Given the description of an element on the screen output the (x, y) to click on. 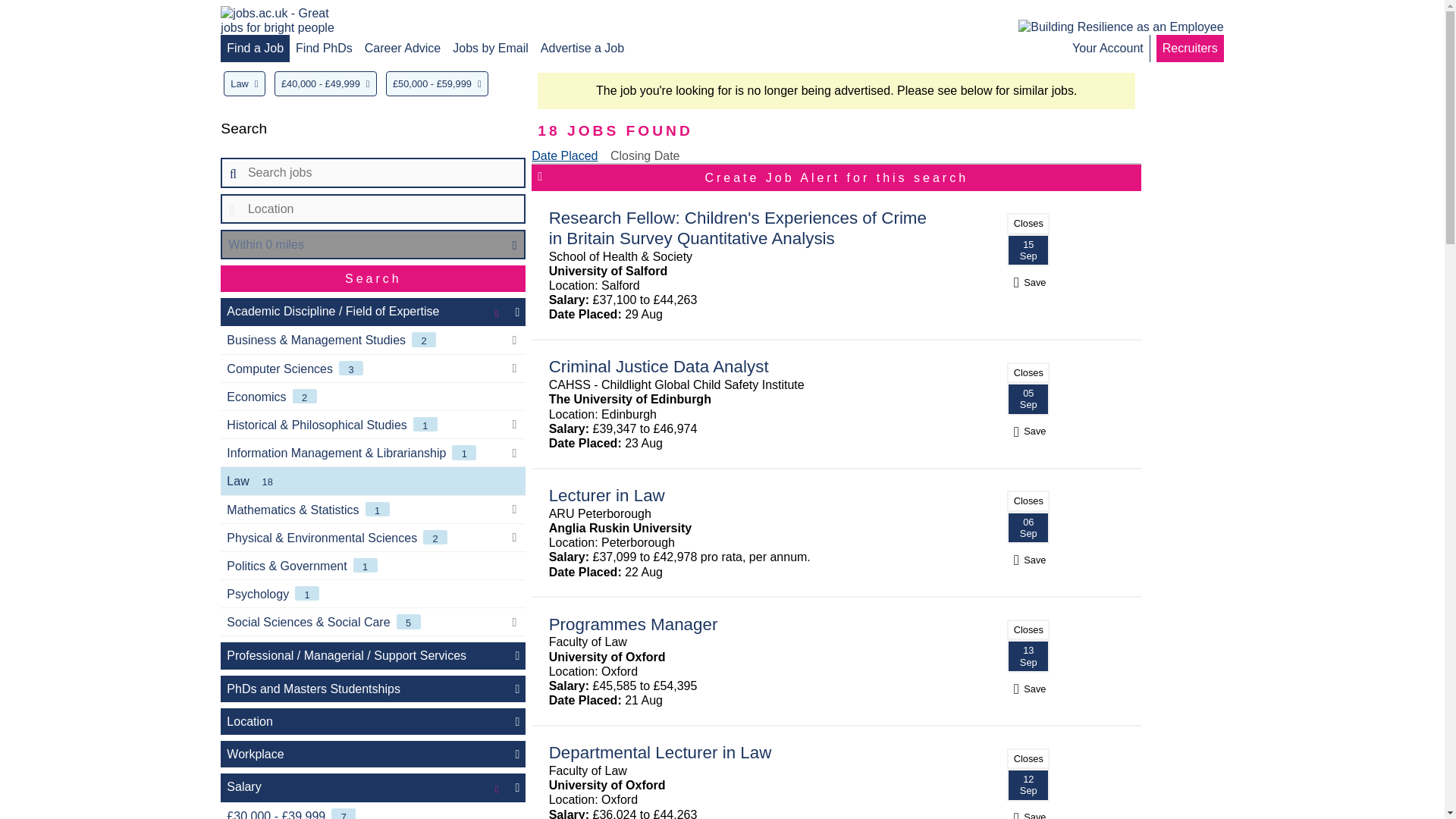
Your Account (1106, 47)
Closing Date (644, 155)
home page (285, 20)
Save job (1027, 816)
Advertise a Job (582, 47)
Create Job Alert for this search (836, 177)
Jobs by Email (490, 47)
distance (373, 243)
Recruiters (1189, 47)
Create Job Alert for this search (836, 177)
